Given the description of an element on the screen output the (x, y) to click on. 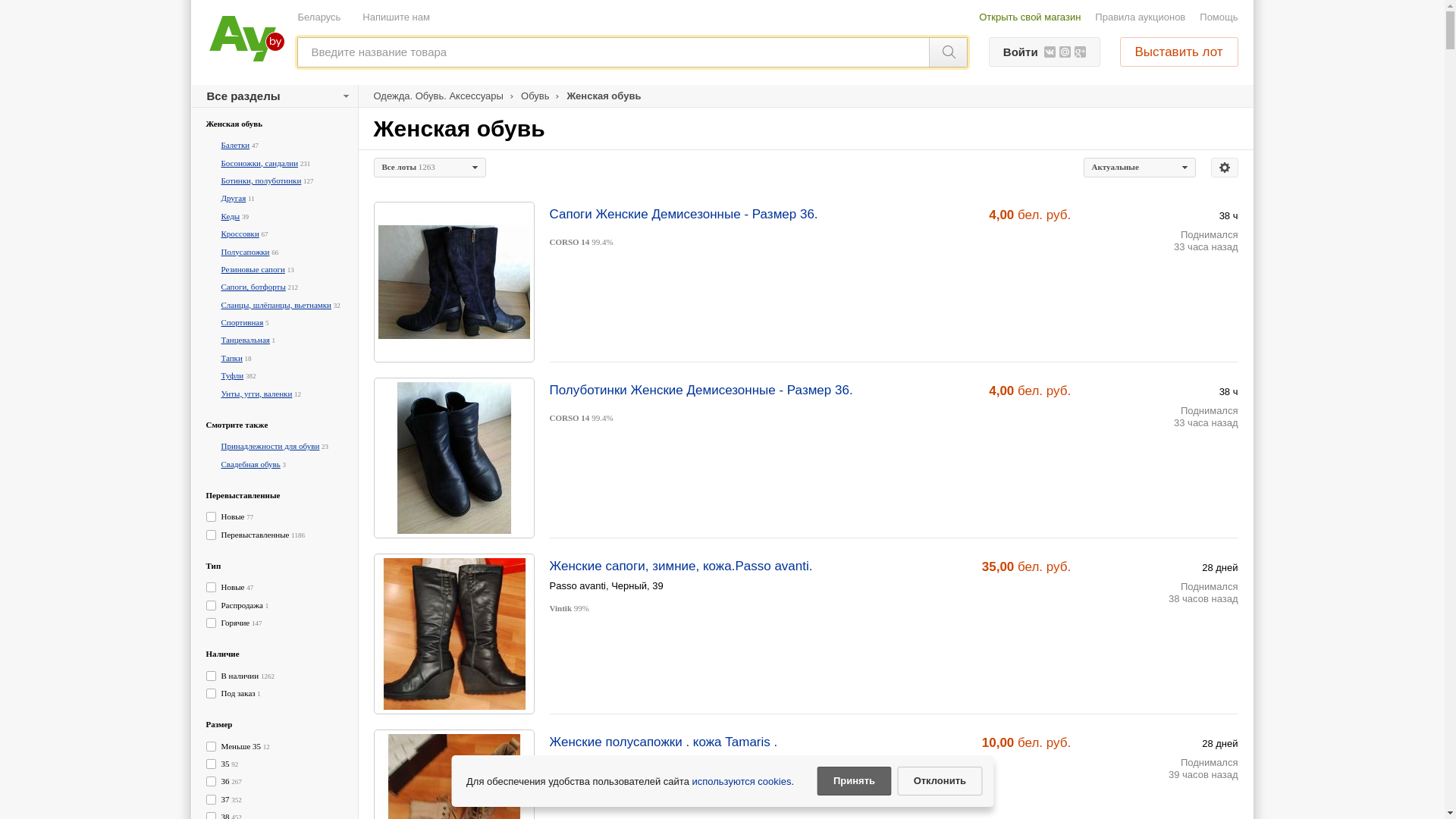
pp Element type: text (721, 291)
login Element type: text (721, 172)
